Given the description of an element on the screen output the (x, y) to click on. 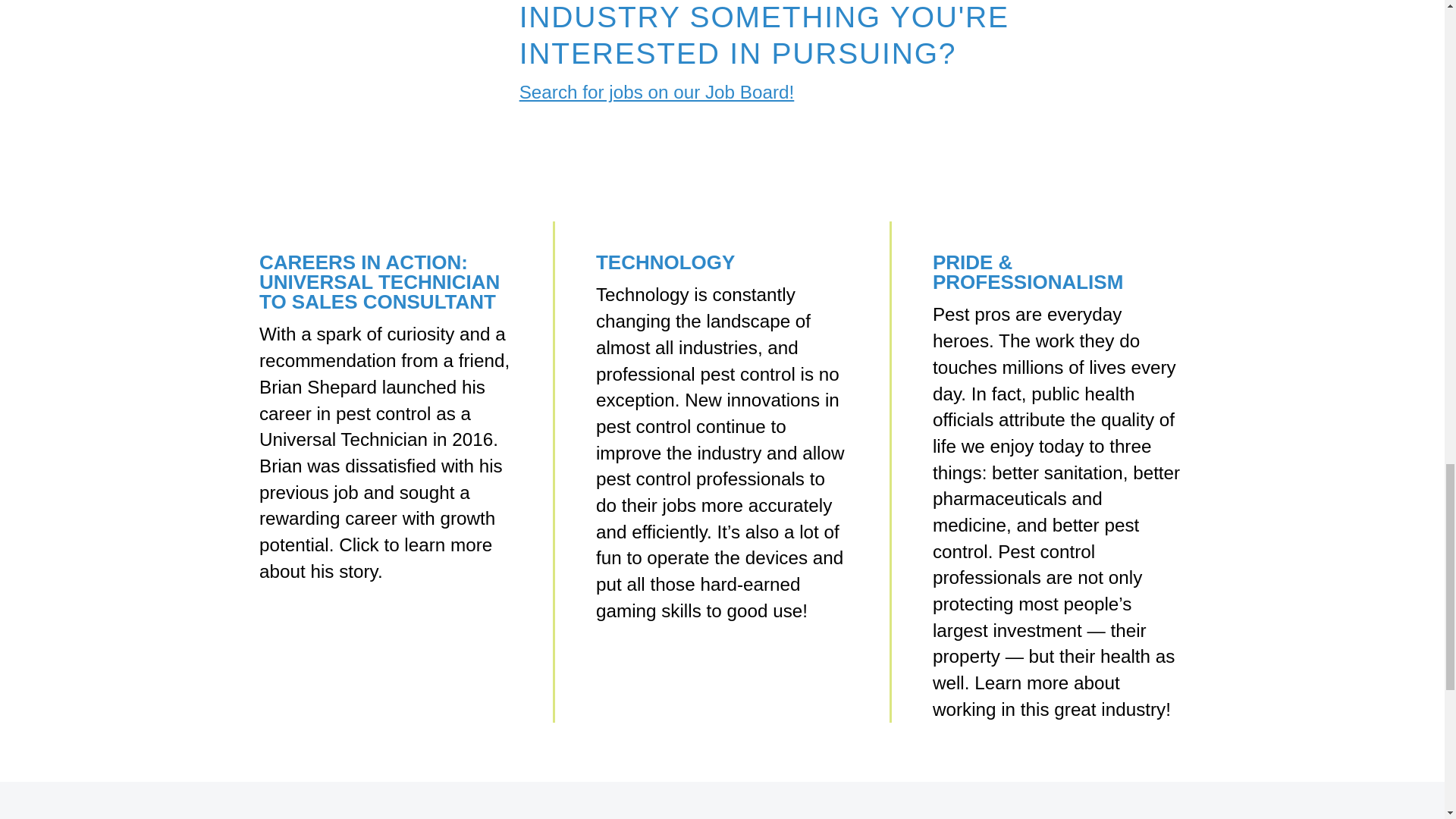
Search for jobs on our Job Board! (656, 91)
